Given the description of an element on the screen output the (x, y) to click on. 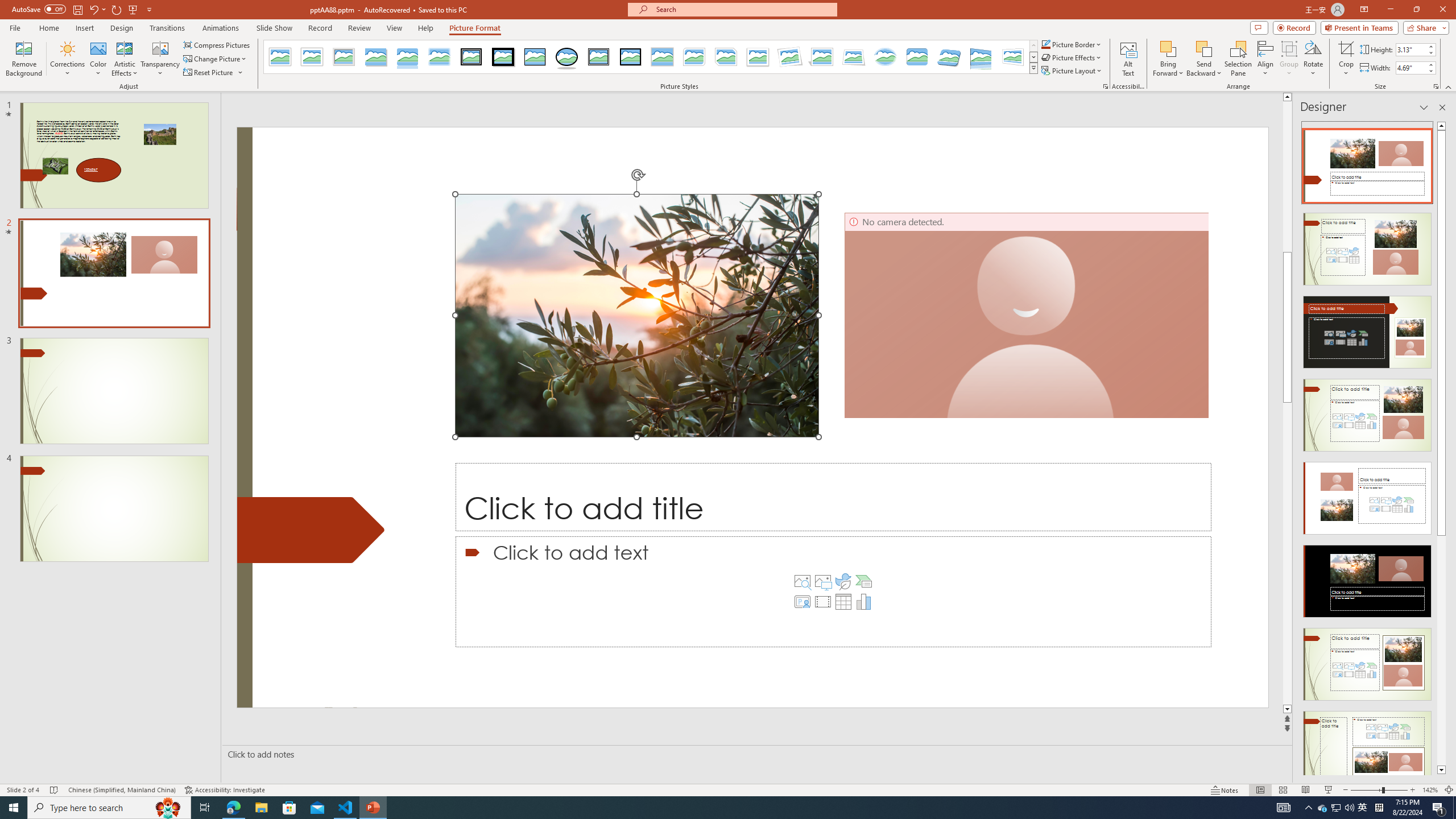
Bevel Perspective (949, 56)
Picture Layout (1072, 69)
Simple Frame, White (280, 56)
Thick Matte, Black (503, 56)
Relaxed Perspective, White (853, 56)
Selection Pane... (1238, 58)
Bring Forward (1168, 48)
